Given the description of an element on the screen output the (x, y) to click on. 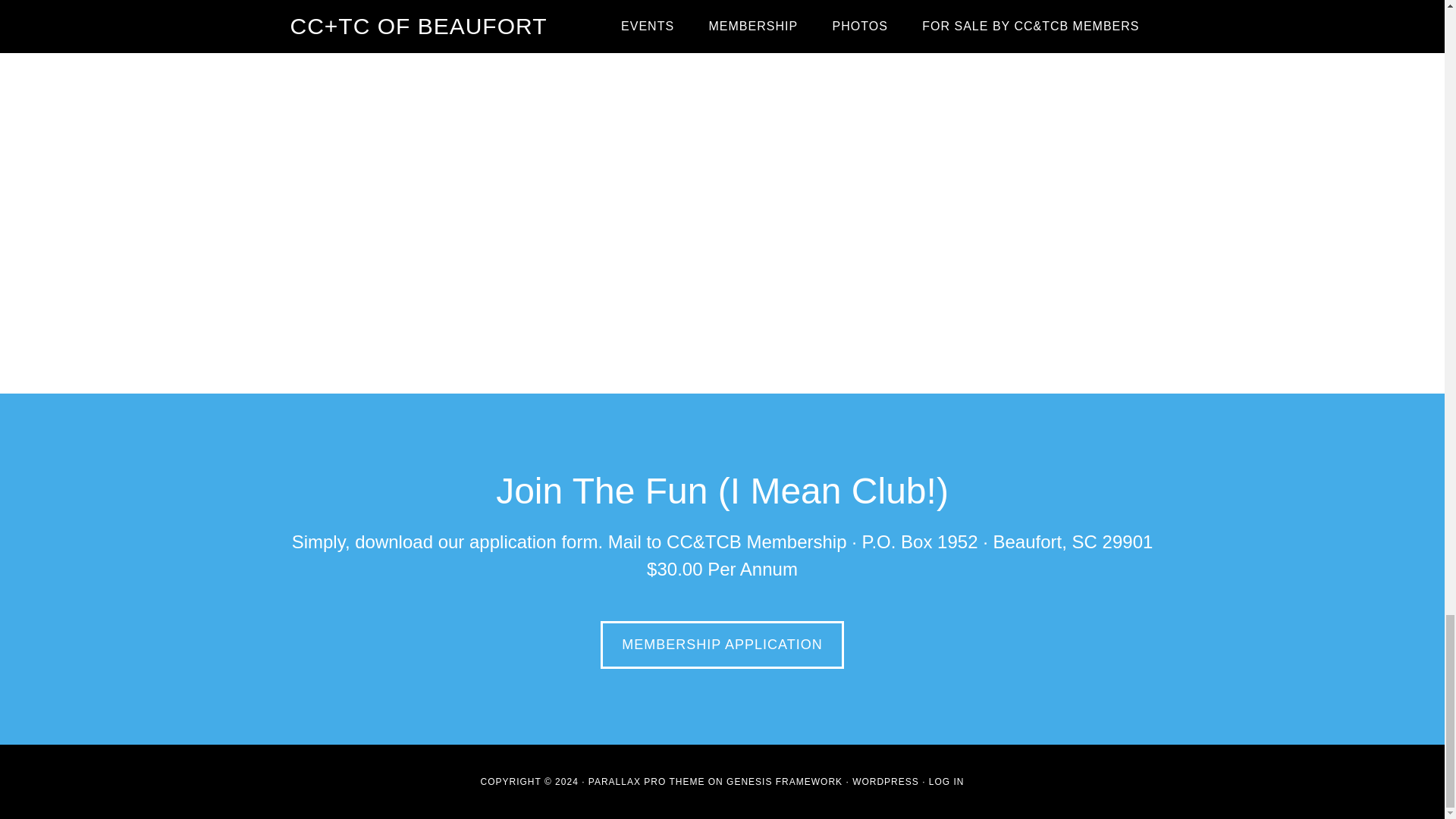
MEMBERSHIP APPLICATION (721, 644)
LOG IN (945, 781)
PARALLAX PRO THEME (646, 781)
WORDPRESS (884, 781)
GENESIS FRAMEWORK (784, 781)
